Given the description of an element on the screen output the (x, y) to click on. 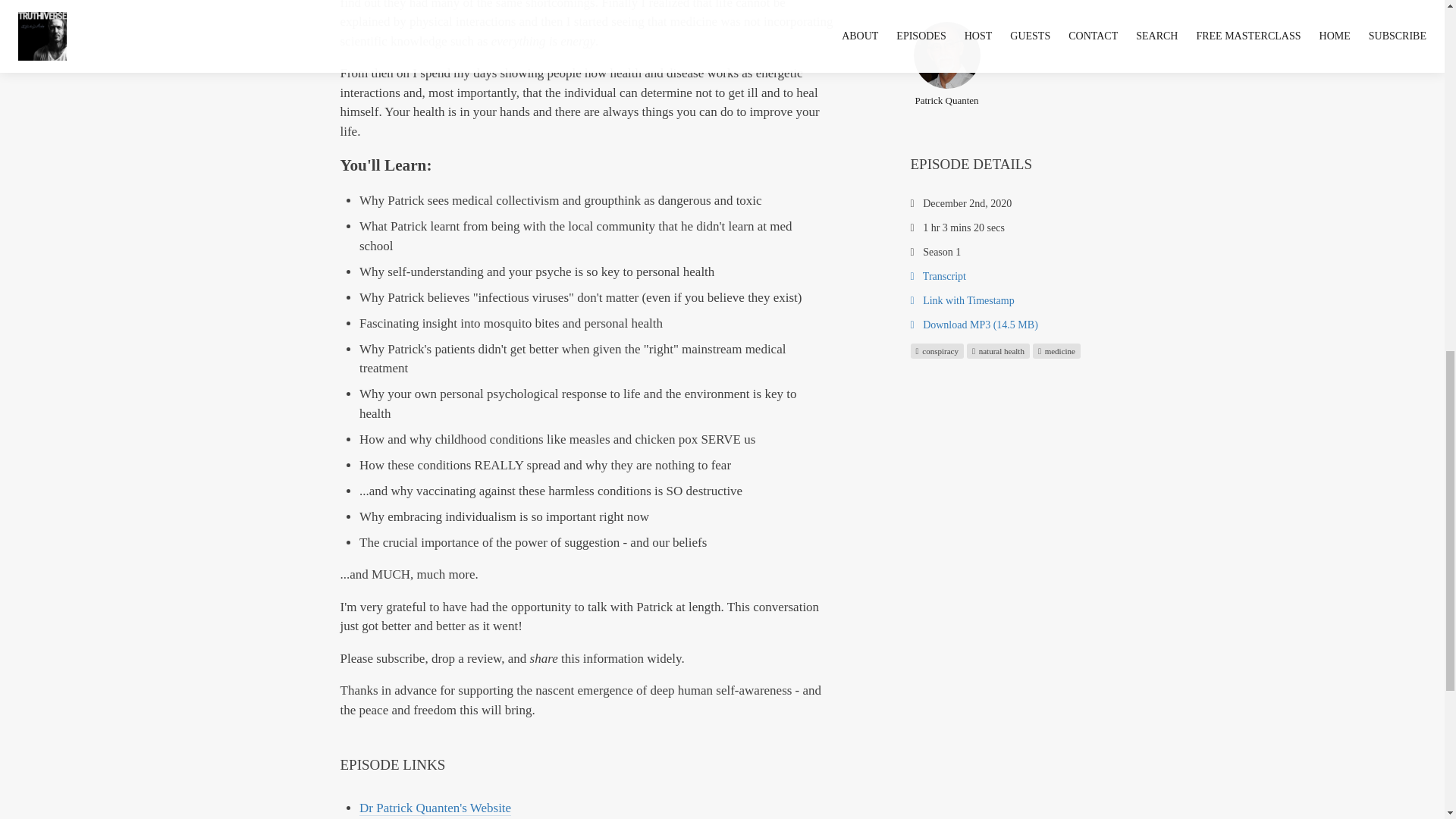
medicine (1056, 350)
Link with Timestamp (961, 299)
conspiracy (936, 350)
Dr Patrick Quanten's Website (435, 807)
natural health (997, 350)
Transcript (937, 275)
Dr Patrick Quanten's Website (435, 807)
